Given the description of an element on the screen output the (x, y) to click on. 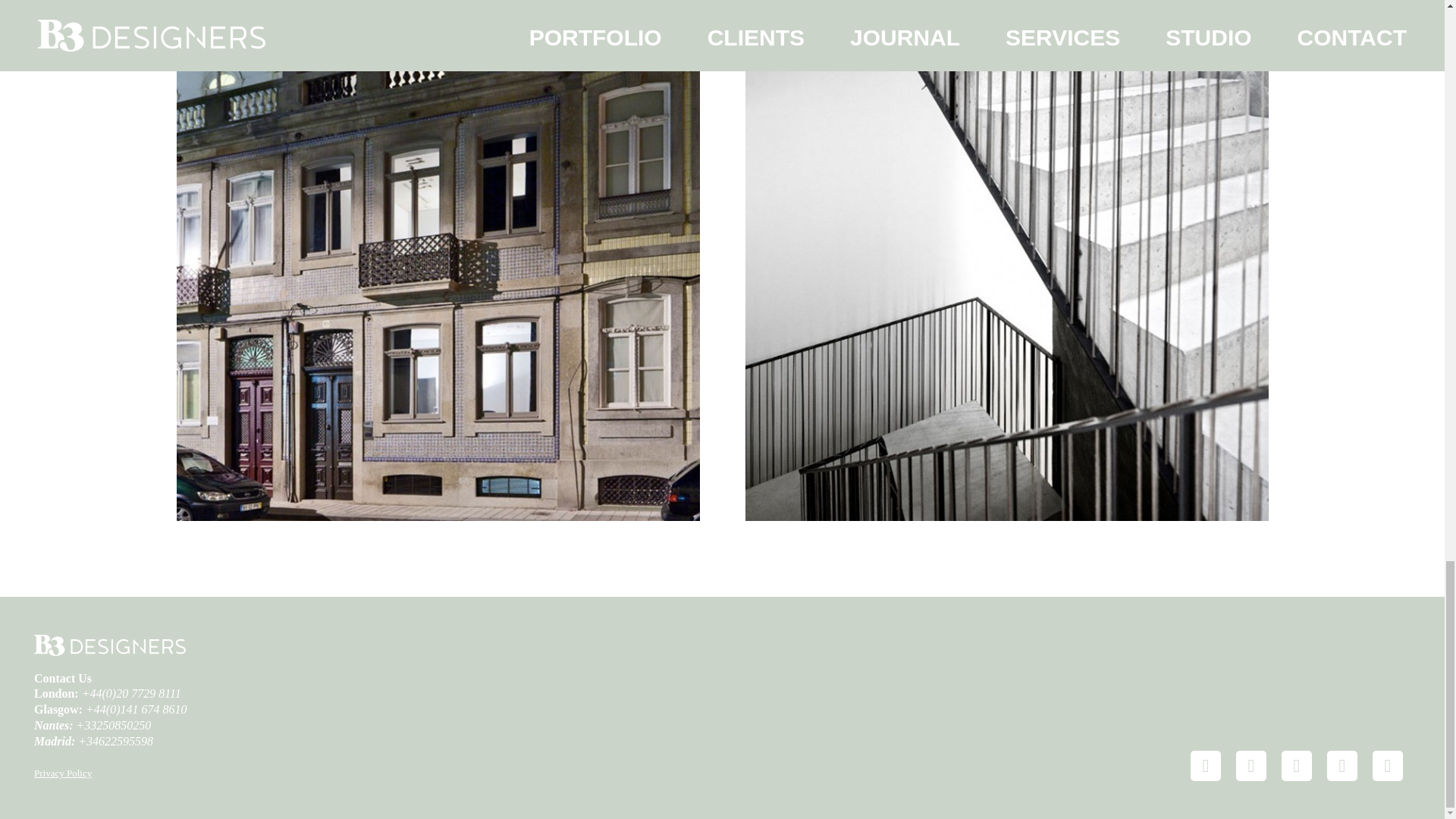
Privacy Policy (62, 772)
Privacy Policy (62, 772)
